Given the description of an element on the screen output the (x, y) to click on. 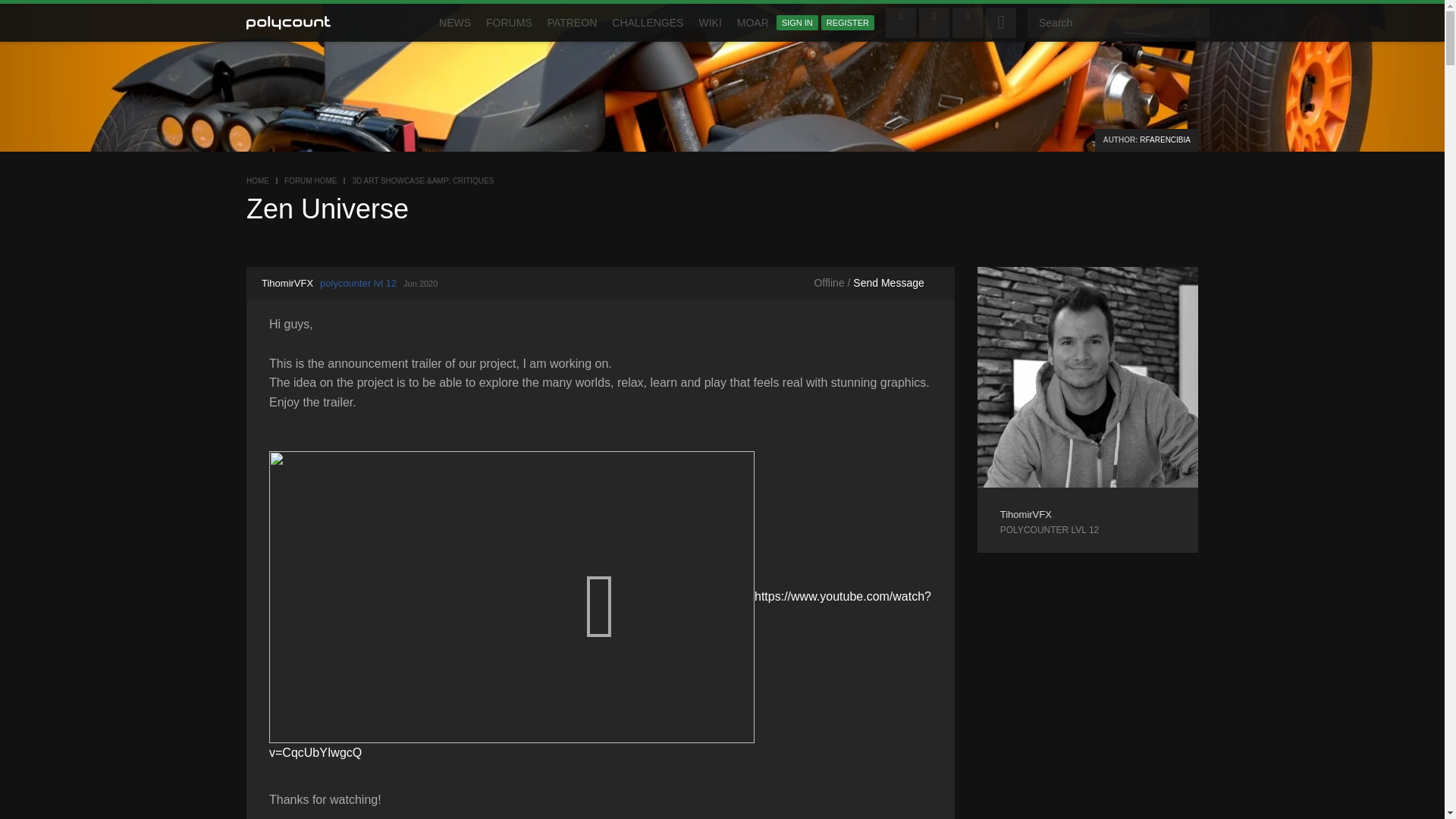
FORUMS (509, 22)
NEWS (454, 22)
MOAR (752, 22)
TihomirVFX (1025, 514)
TihomirVFX (287, 283)
Jun 2020 (420, 283)
FORUM HOME (309, 180)
polycounter lvl 12 (1087, 530)
Send Message (888, 282)
polycounter lvl 12 (358, 283)
Sign In with Facebook (900, 22)
WIKI (709, 22)
Polycount (287, 22)
HOME (257, 180)
Enter your search term. (1118, 22)
